Given the description of an element on the screen output the (x, y) to click on. 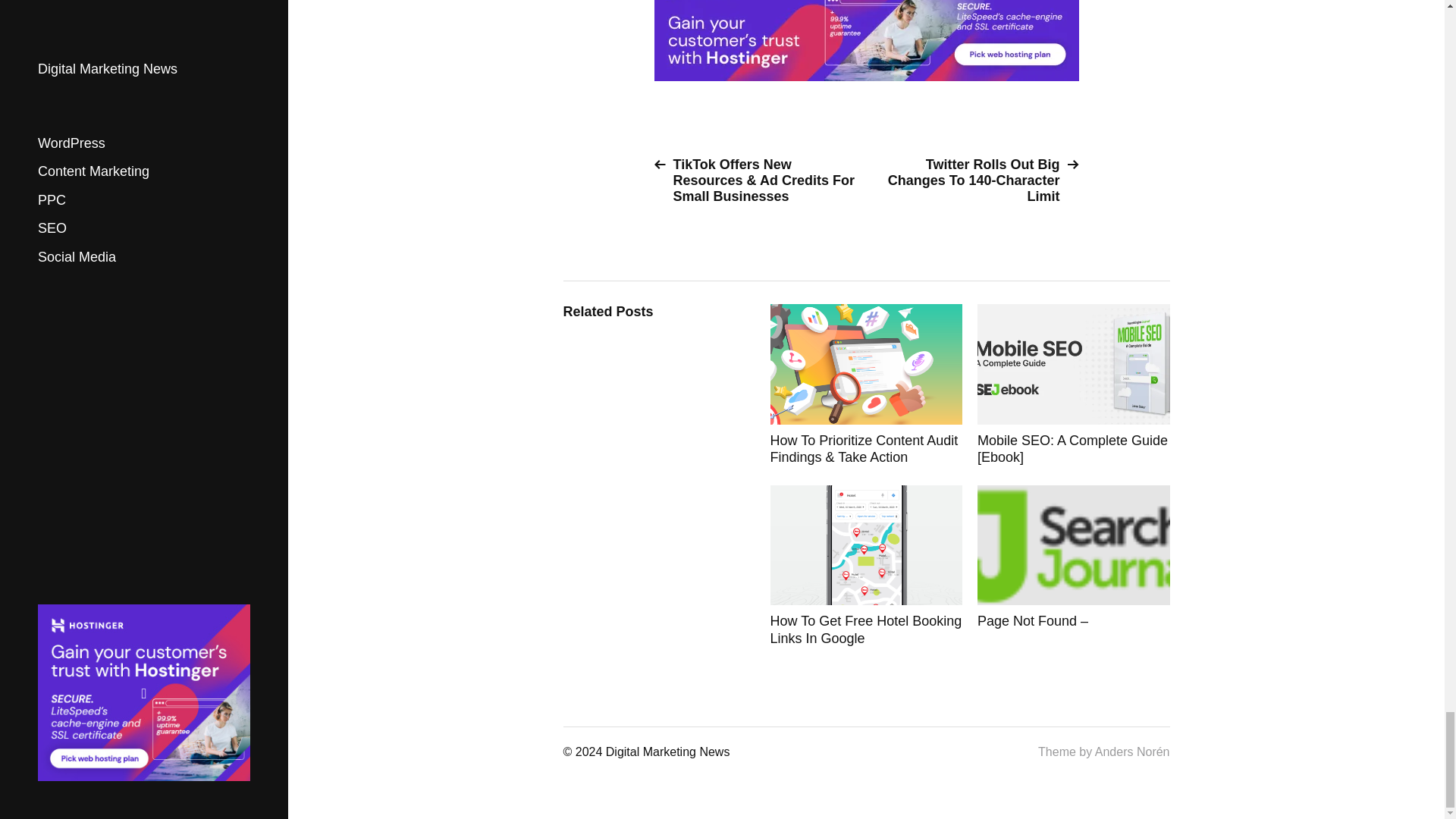
Twitter Rolls Out Big Changes To 140-Character Limit (977, 180)
Digital Marketing News (667, 752)
How To Get Free Hotel Booking Links In Google (866, 566)
